Given the description of an element on the screen output the (x, y) to click on. 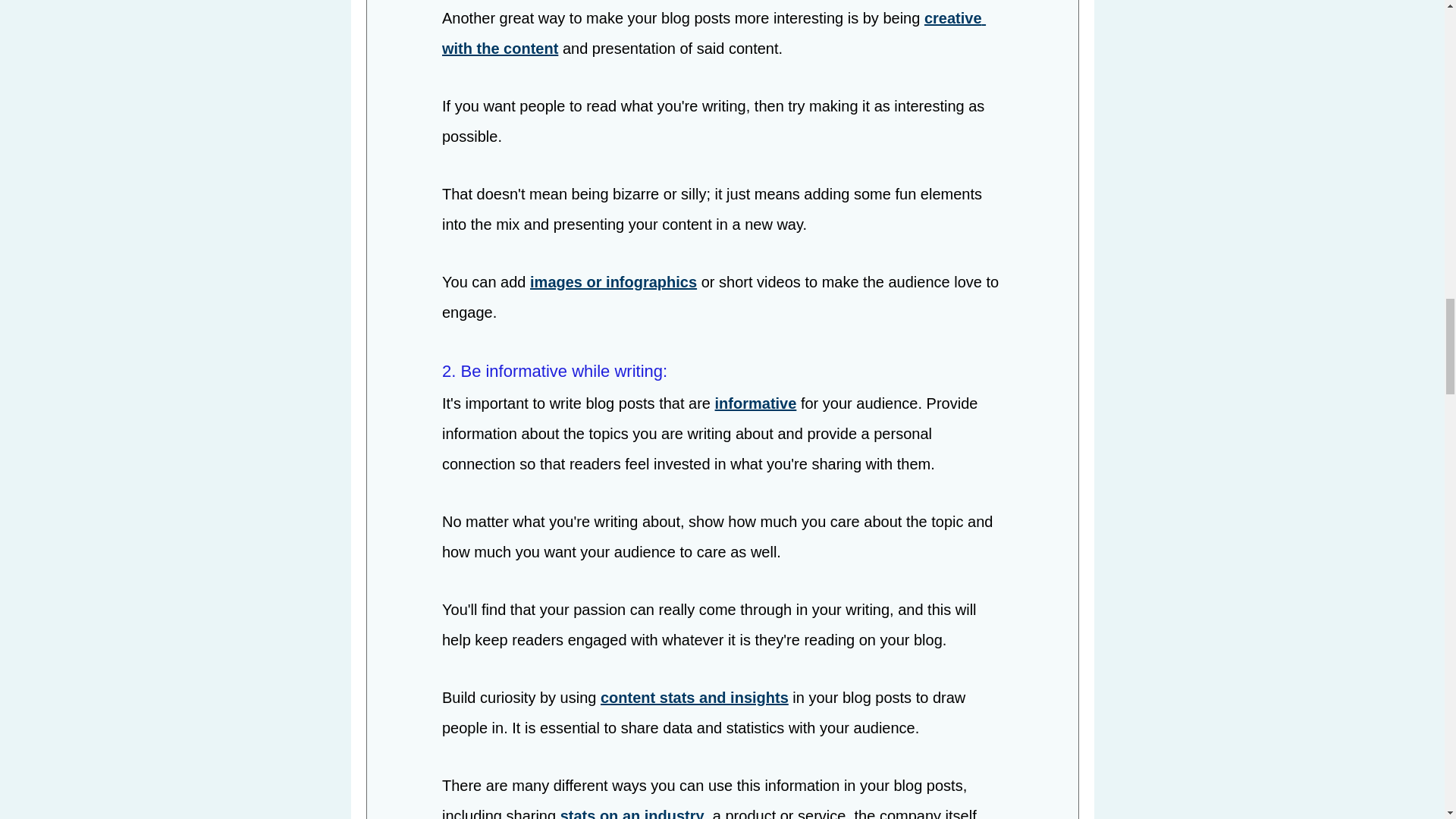
images or infographics (613, 283)
stats on an industry (631, 814)
creative with the content (713, 34)
content stats and insights (693, 698)
informative (755, 404)
